Given the description of an element on the screen output the (x, y) to click on. 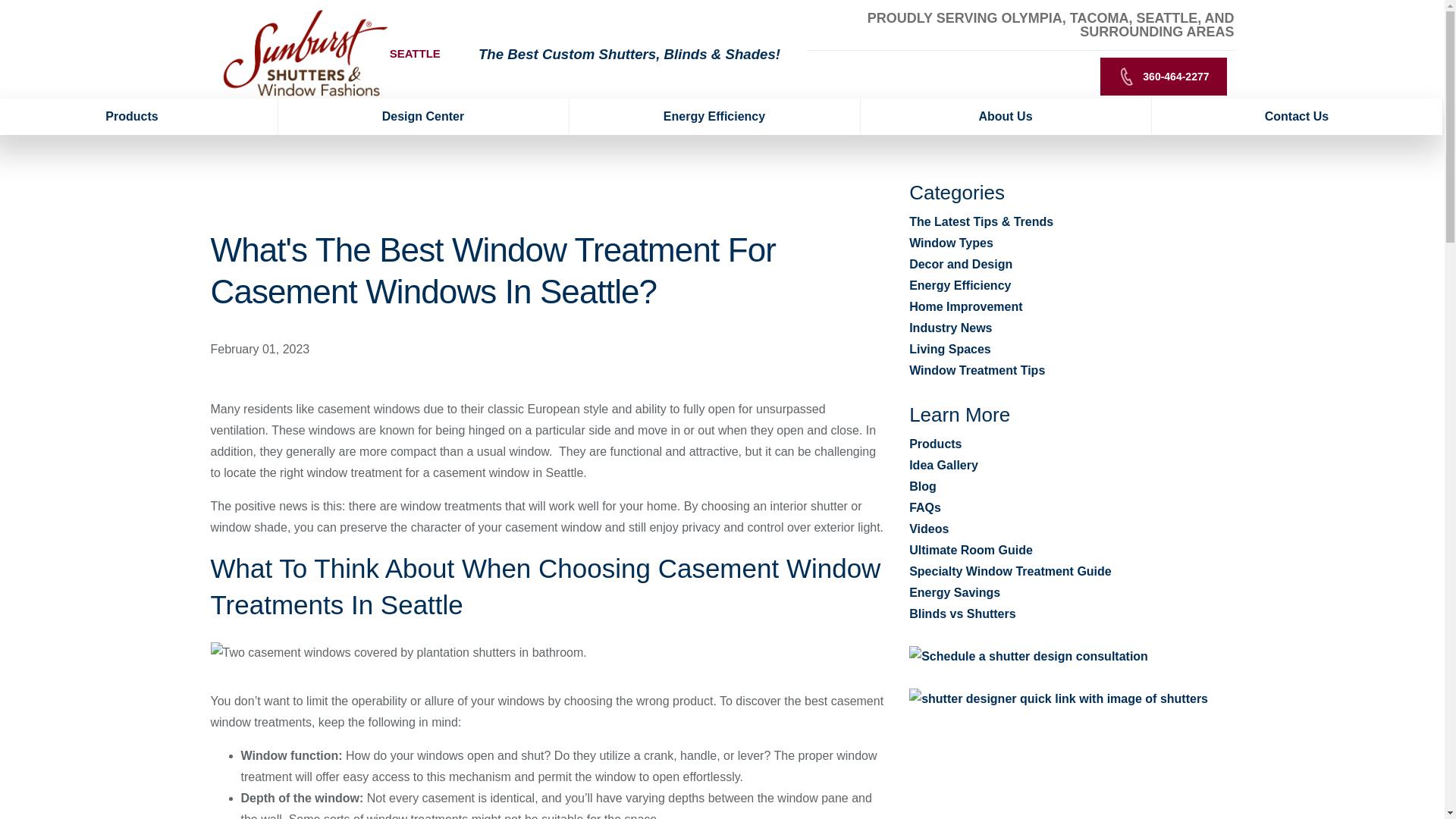
Design Center (423, 116)
Products (139, 116)
360-464-2277 (1162, 76)
Sunburst Shutters Washington Home (305, 52)
